Given the description of an element on the screen output the (x, y) to click on. 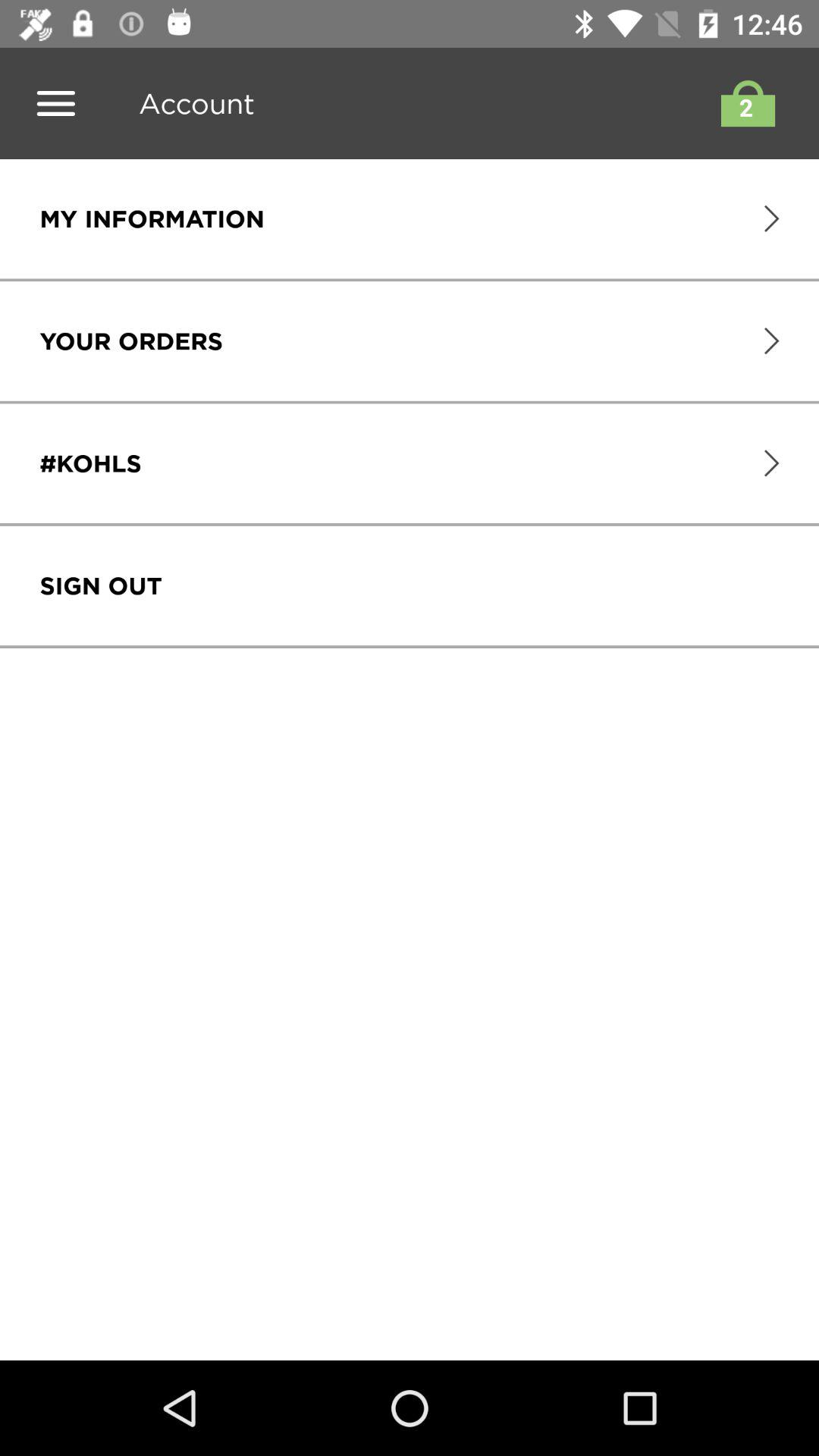
scroll to the account app (190, 103)
